Given the description of an element on the screen output the (x, y) to click on. 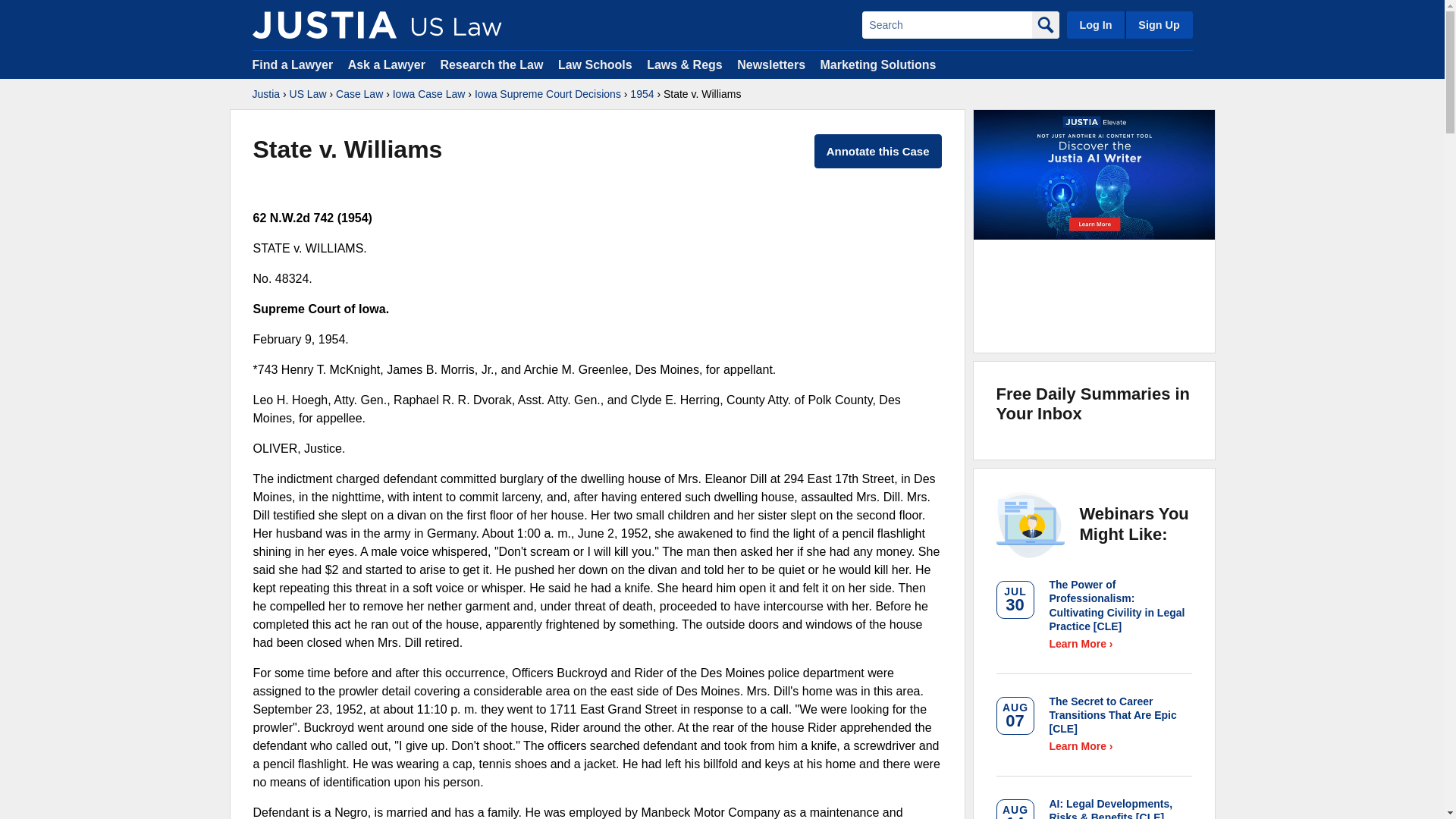
Log In (1094, 24)
Justia (323, 24)
Newsletters (770, 64)
Justia (265, 93)
Iowa Supreme Court Decisions (547, 93)
Annotate this Case (877, 151)
Iowa Case Law (429, 93)
Research the Law (491, 64)
Search (945, 24)
Ask a Lawyer (388, 64)
US Law (307, 93)
Law Schools (594, 64)
Case Law (359, 93)
Marketing Solutions (877, 64)
1954 (641, 93)
